Given the description of an element on the screen output the (x, y) to click on. 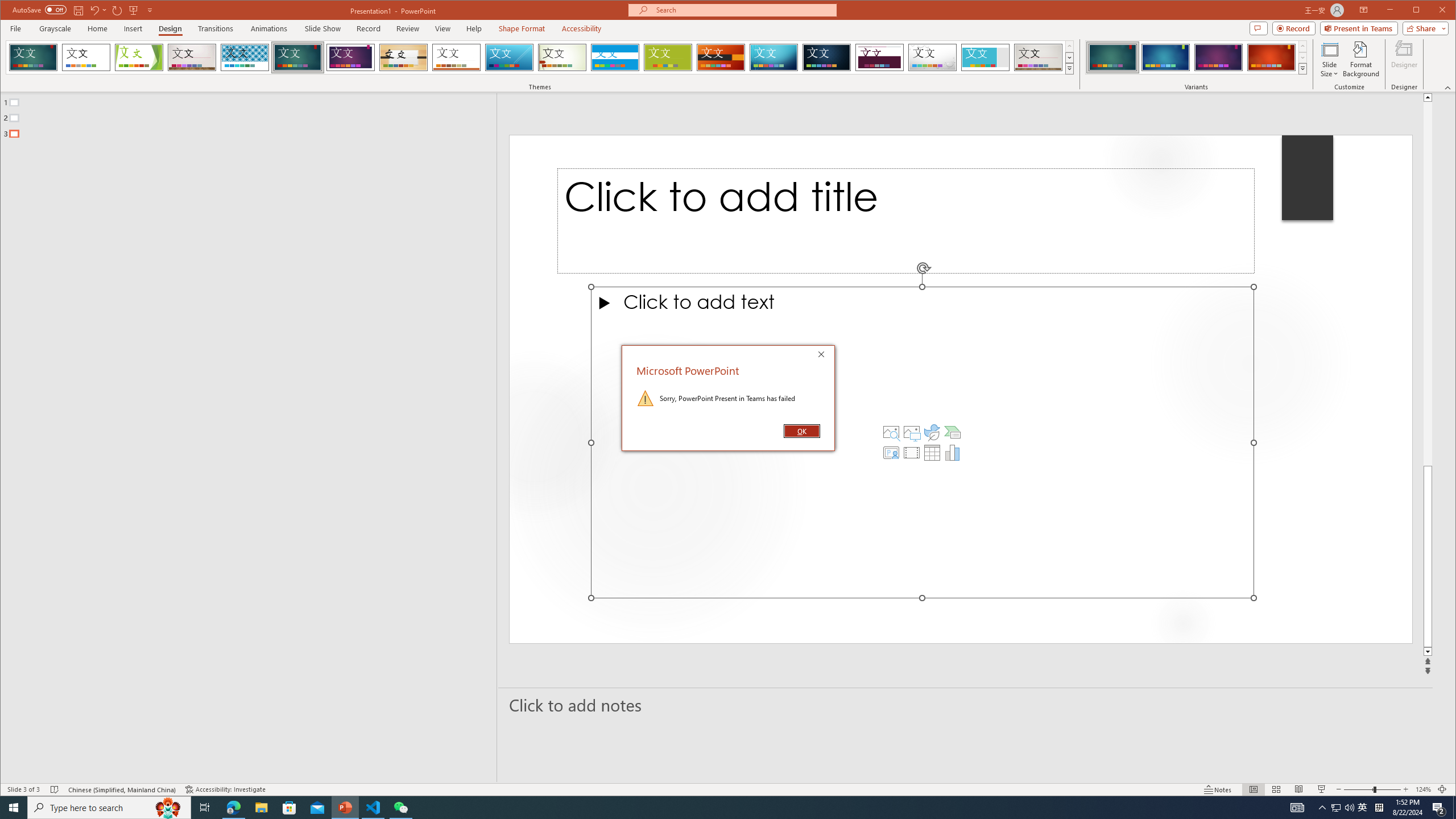
Slice (509, 57)
Visual Studio Code - 1 running window (373, 807)
File Explorer (261, 807)
Grayscale (55, 28)
Circuit (773, 57)
AutomationID: SlideThemesGallery (540, 57)
Pictures (911, 432)
